Given the description of an element on the screen output the (x, y) to click on. 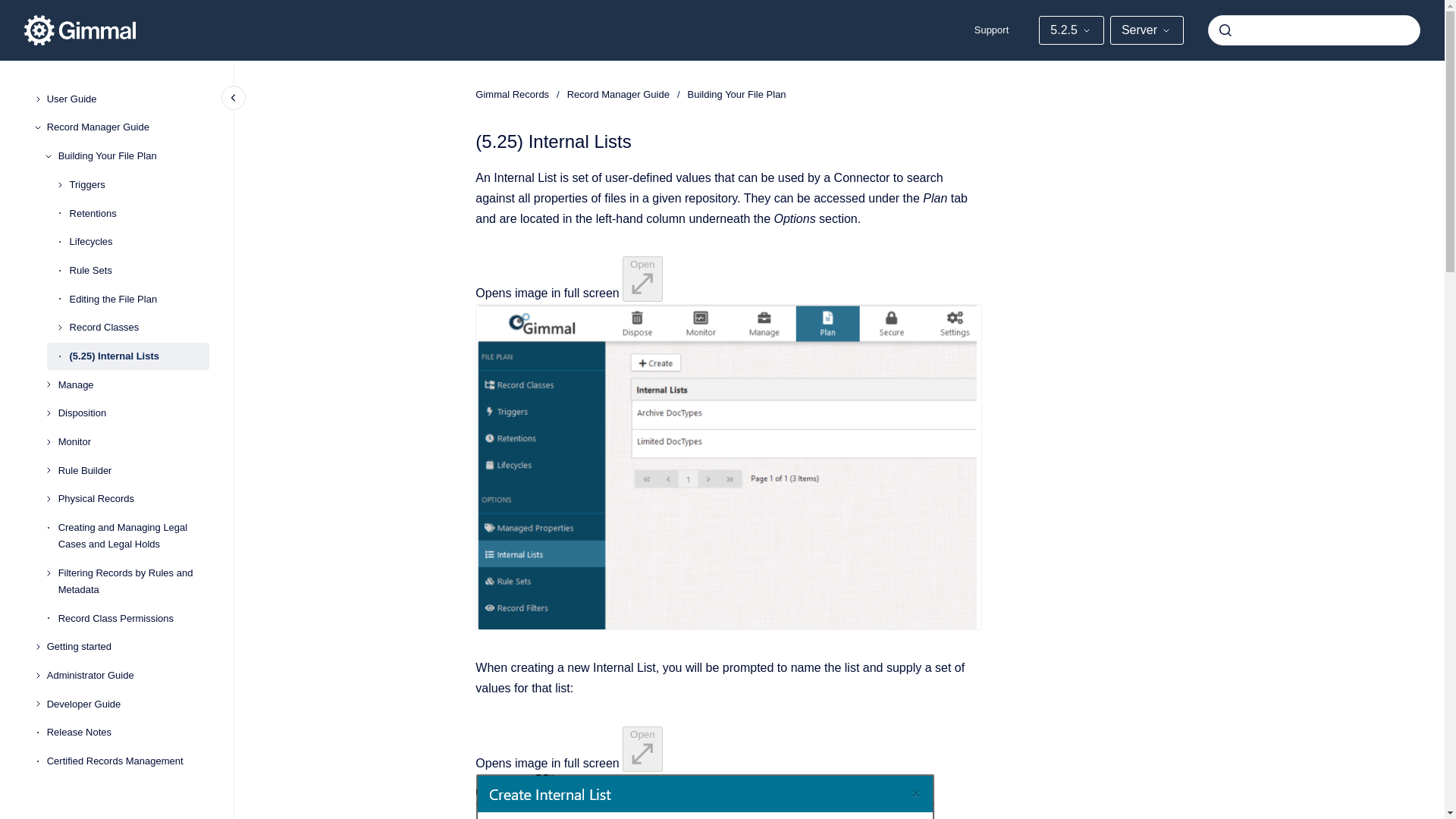
Record Manager Guide (127, 127)
Record Classes (139, 327)
Filtering Records by Rules and Metadata (133, 581)
Manage (133, 384)
Physical Records (133, 499)
Lifecycles (139, 241)
Server (1146, 30)
Disposition (133, 413)
Go to homepage (79, 30)
Getting started (127, 646)
Retentions (139, 213)
Editing the File Plan (139, 298)
Support (992, 29)
Creating and Managing Legal Cases and Legal Holds (133, 535)
Rule Sets (139, 270)
